Given the description of an element on the screen output the (x, y) to click on. 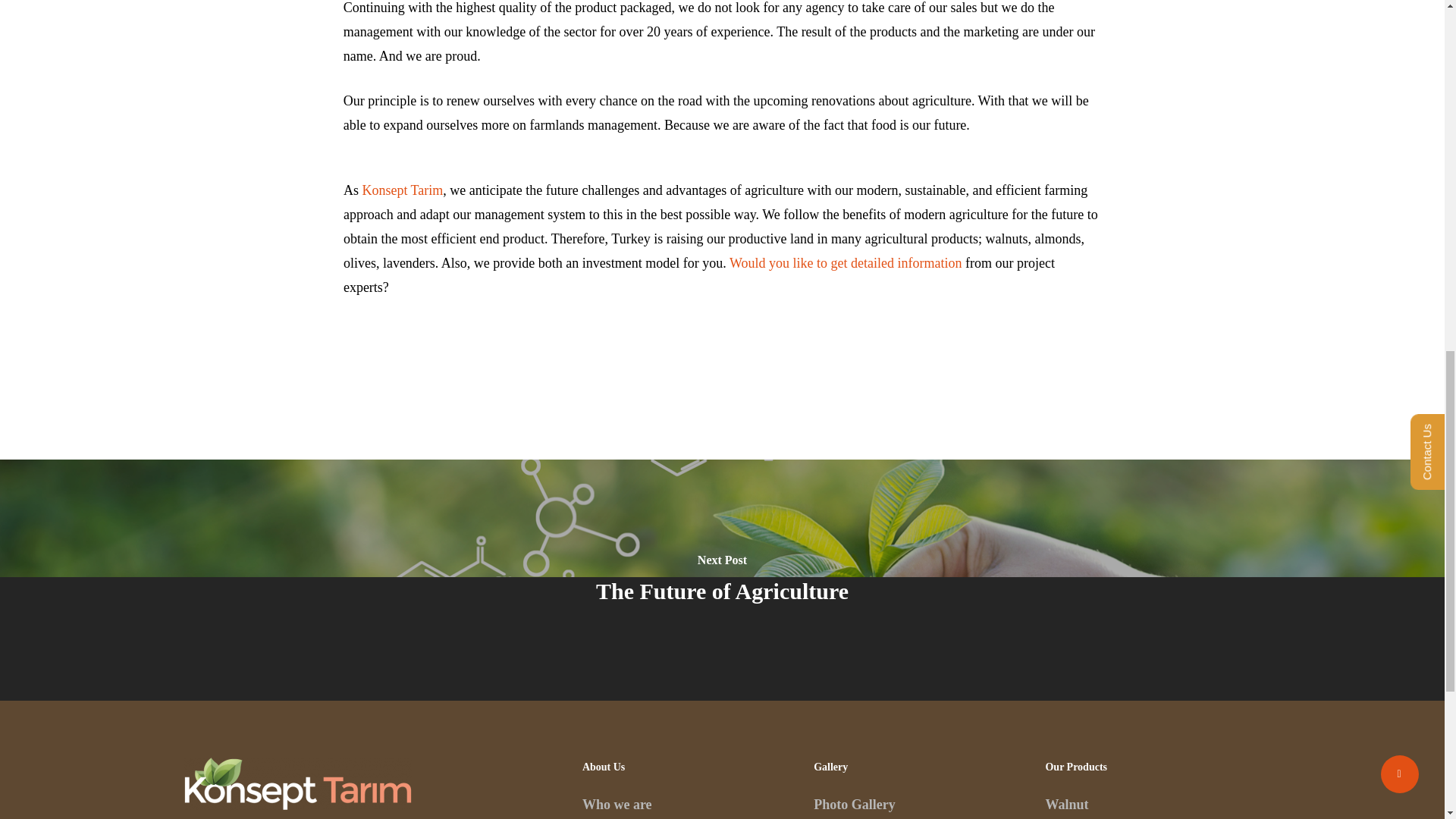
Would you like to get detailed information (844, 263)
Photo Gallery (854, 804)
Who we are (617, 804)
Konsept Tarim (401, 190)
Walnut (1066, 804)
